Given the description of an element on the screen output the (x, y) to click on. 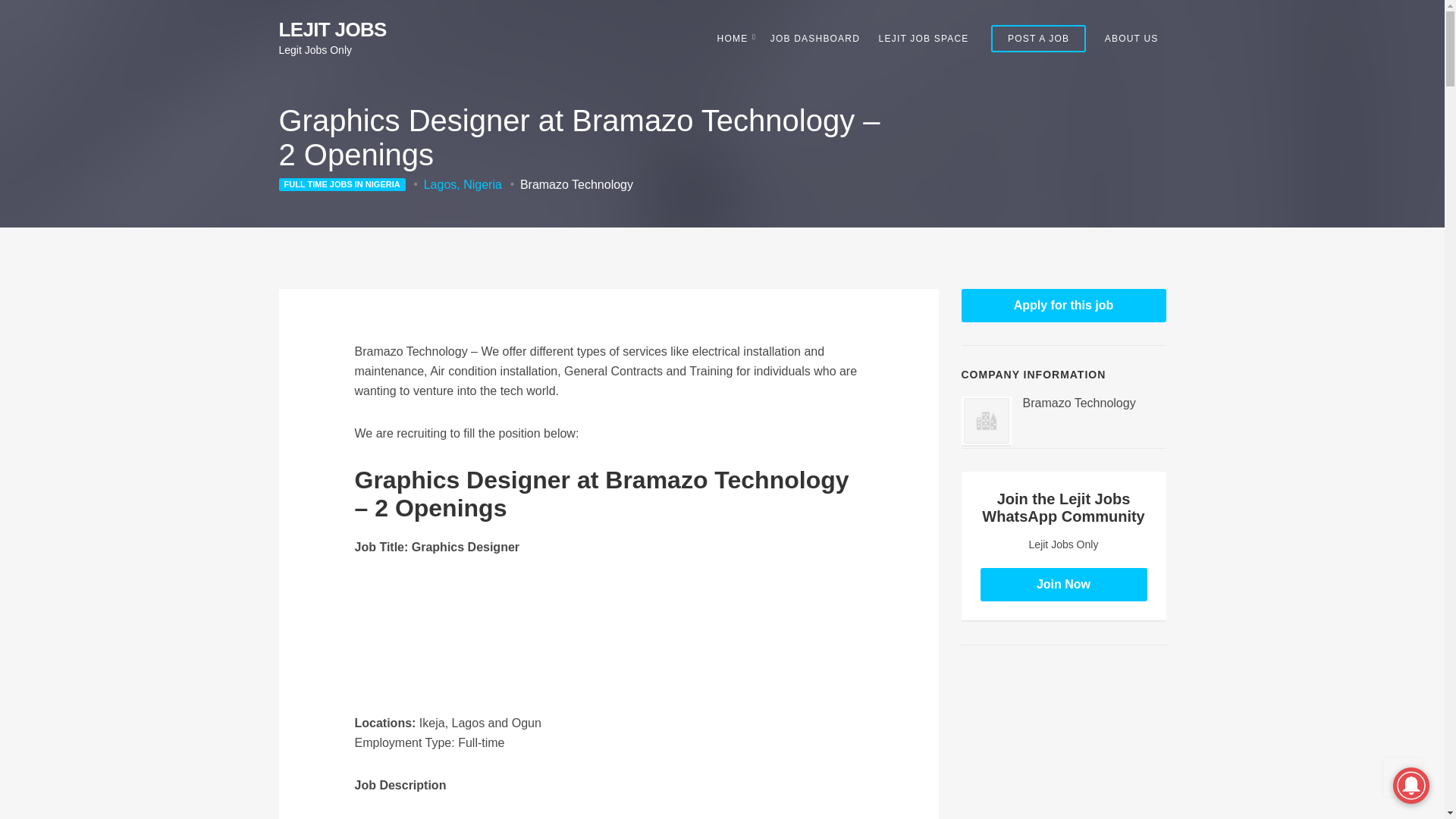
Advertisement (609, 643)
Advertisement (1074, 743)
LEJIT JOB SPACE (924, 38)
JOB DASHBOARD (815, 38)
Apply for this job (1063, 305)
LEJIT JOBS (333, 29)
ABOUT US (1131, 38)
Lagos, Nigeria (462, 184)
Join Now (1063, 584)
HOME (734, 38)
